Given the description of an element on the screen output the (x, y) to click on. 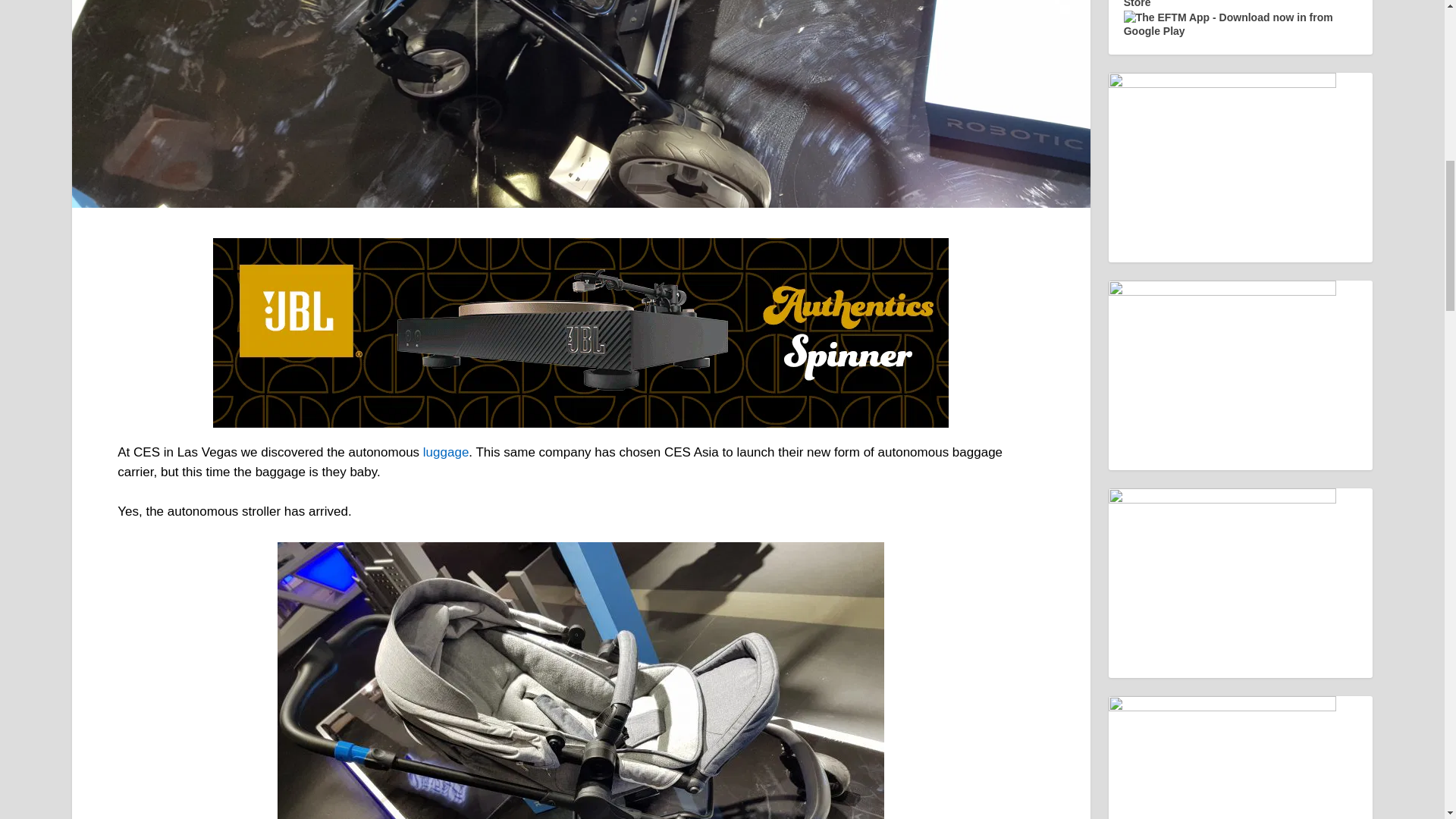
luggage (445, 452)
